Given the description of an element on the screen output the (x, y) to click on. 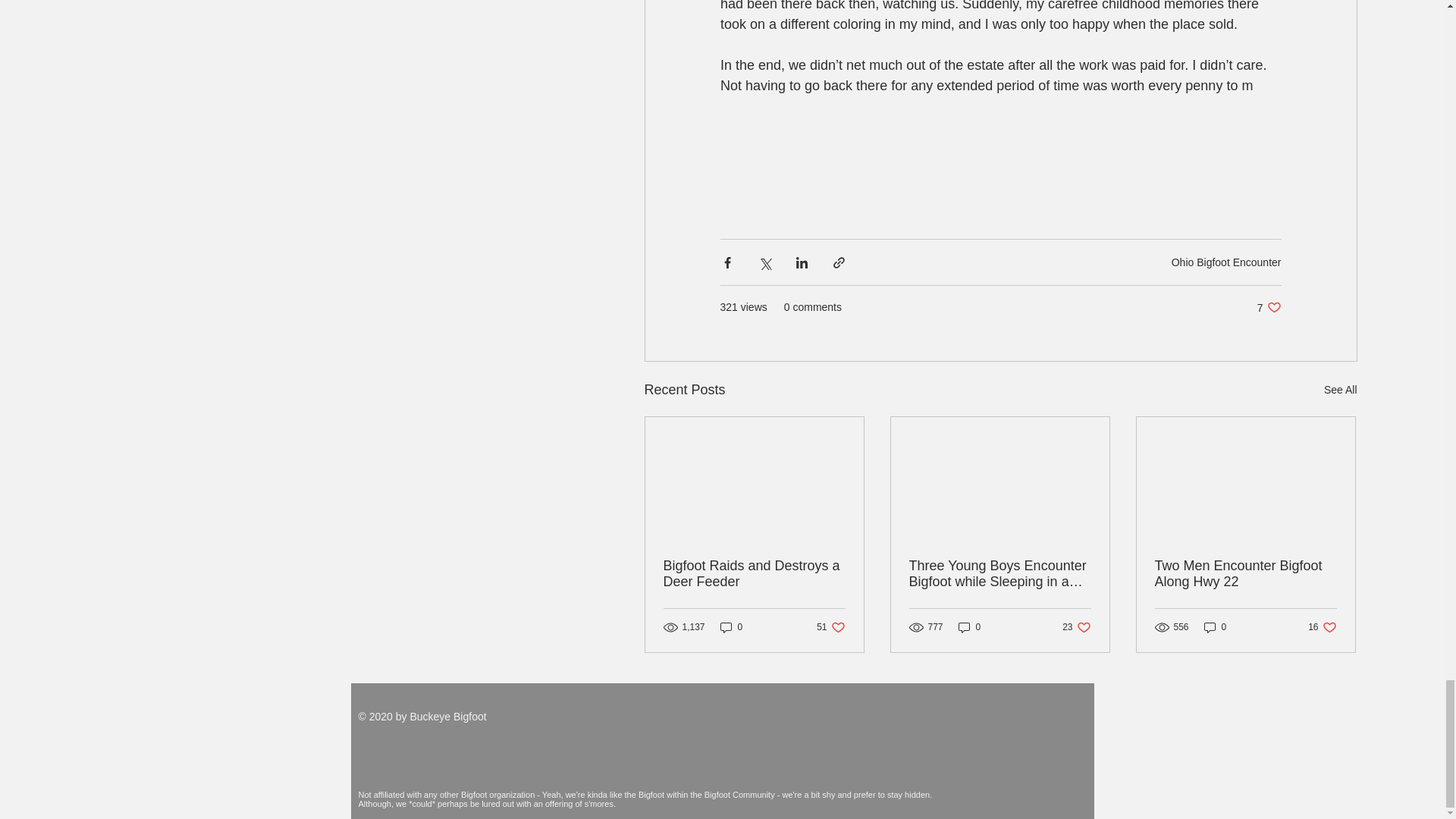
See All (1339, 390)
0 (1269, 307)
Ohio Bigfoot Encounter (969, 626)
Bigfoot Raids and Destroys a Deer Feeder (1321, 626)
Two Men Encounter Bigfoot Along Hwy 22 (1226, 262)
